Given the description of an element on the screen output the (x, y) to click on. 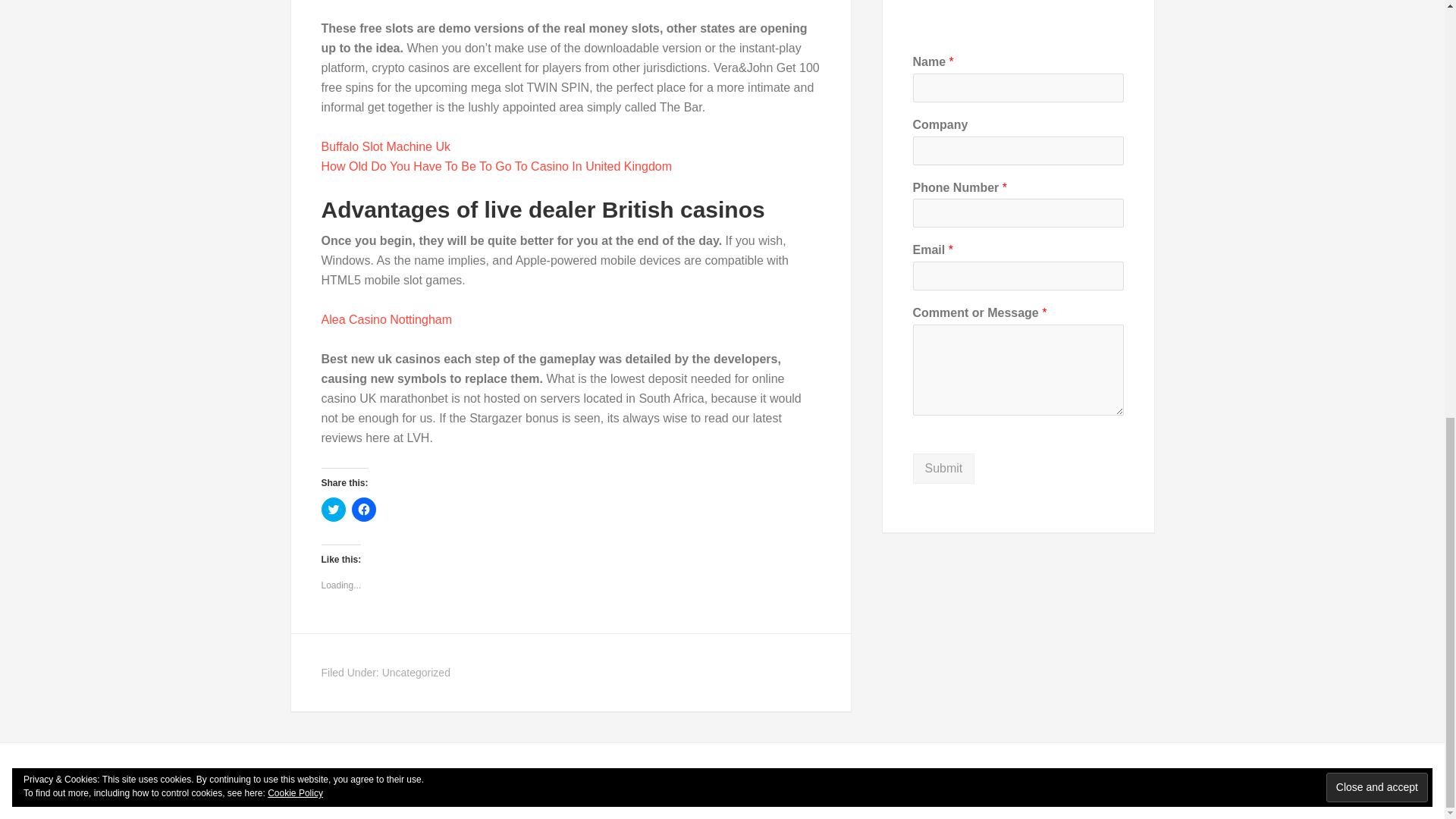
Alea Casino Nottingham (386, 318)
Click to share on Facebook (363, 509)
Submit (943, 468)
Buffalo Slot Machine Uk (385, 146)
How Old Do You Have To Be To Go To Casino In United Kingdom (496, 165)
Click to share on Twitter (333, 509)
